Given the description of an element on the screen output the (x, y) to click on. 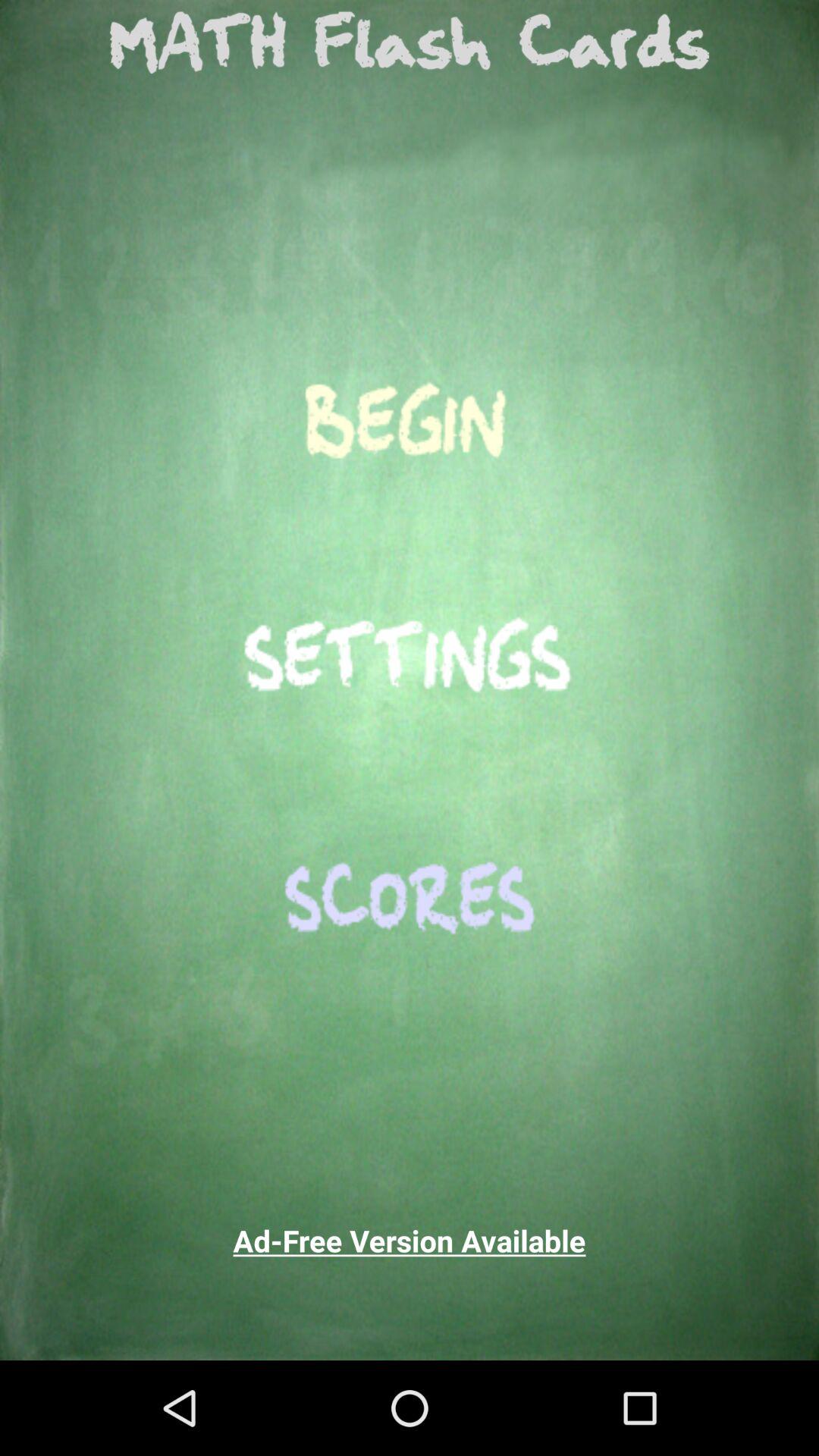
click ad free version (409, 1240)
